Given the description of an element on the screen output the (x, y) to click on. 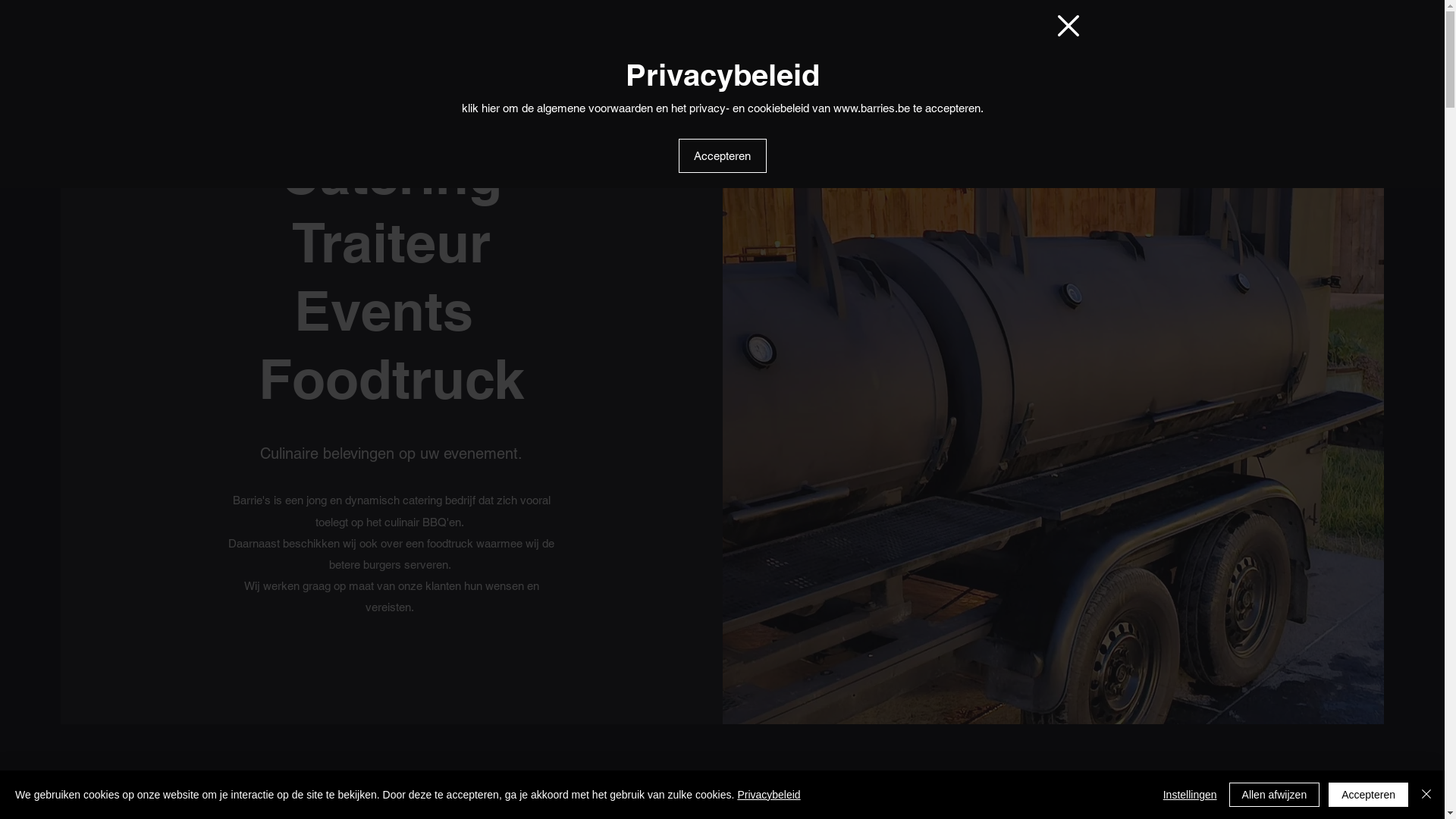
Allen afwijzen Element type: text (1274, 794)
Accepteren Element type: text (1368, 794)
Terug naar de website Element type: hover (1067, 25)
www.barries.be Element type: text (870, 107)
Foodtruck Element type: text (955, 71)
Offerte opmaken Element type: text (1210, 71)
Accepteren Element type: text (721, 155)
Wie zijn wij Element type: text (860, 71)
Catering Element type: text (1040, 71)
Privacybeleid Element type: text (768, 794)
Foto's Element type: text (1111, 71)
Home Element type: text (782, 71)
